Given the description of an element on the screen output the (x, y) to click on. 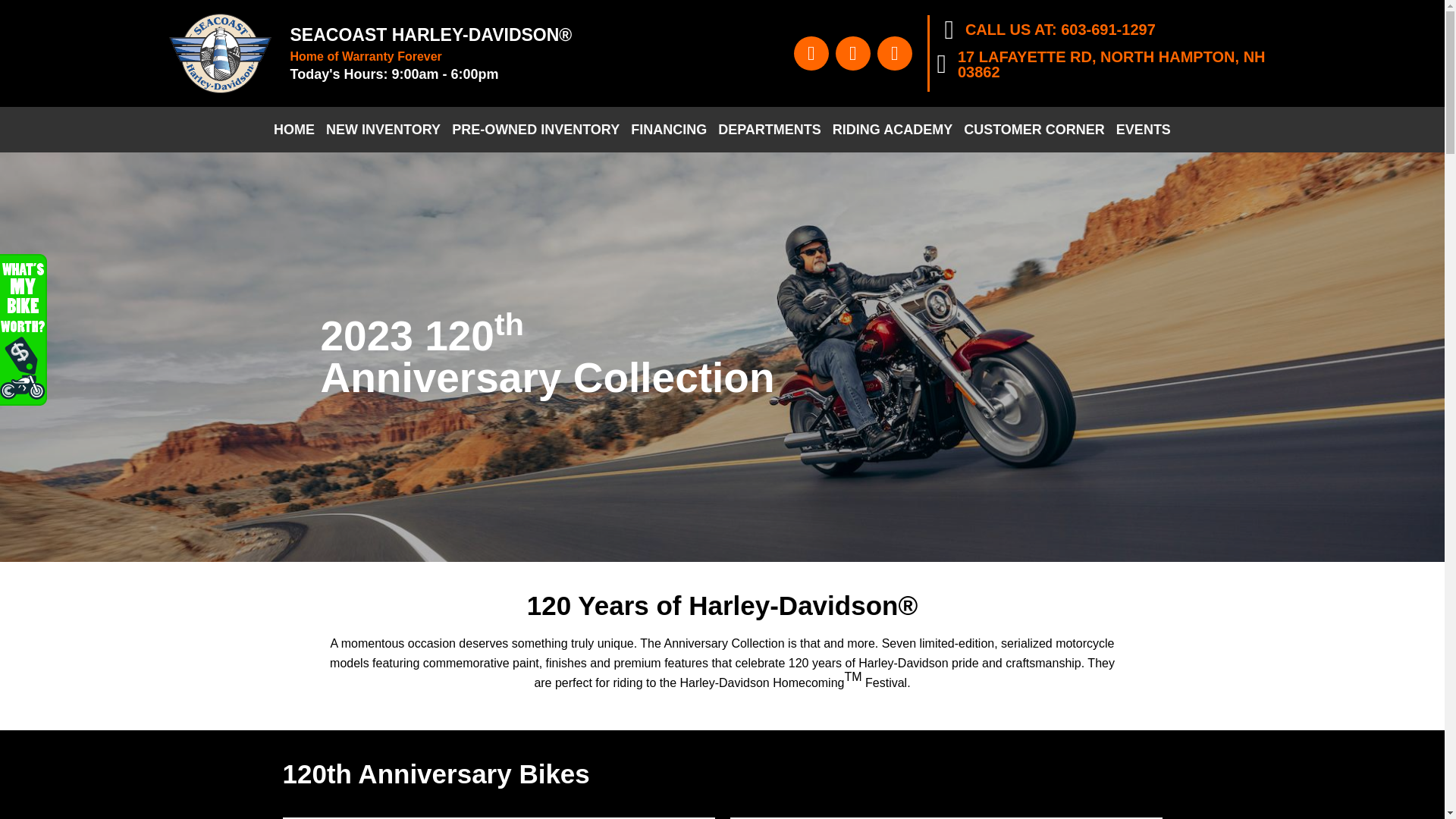
NEW INVENTORY (382, 129)
CALL US AT: 603-691-1297 (1060, 29)
17 LAFAYETTE RD, NORTH HAMPTON, NH 03862 (1111, 64)
PRE-OWNED INVENTORY (535, 129)
HOME (293, 129)
DEPARTMENTS (770, 129)
Logo (219, 53)
FINANCING (668, 129)
Home of Warranty Forever (365, 56)
